Given the description of an element on the screen output the (x, y) to click on. 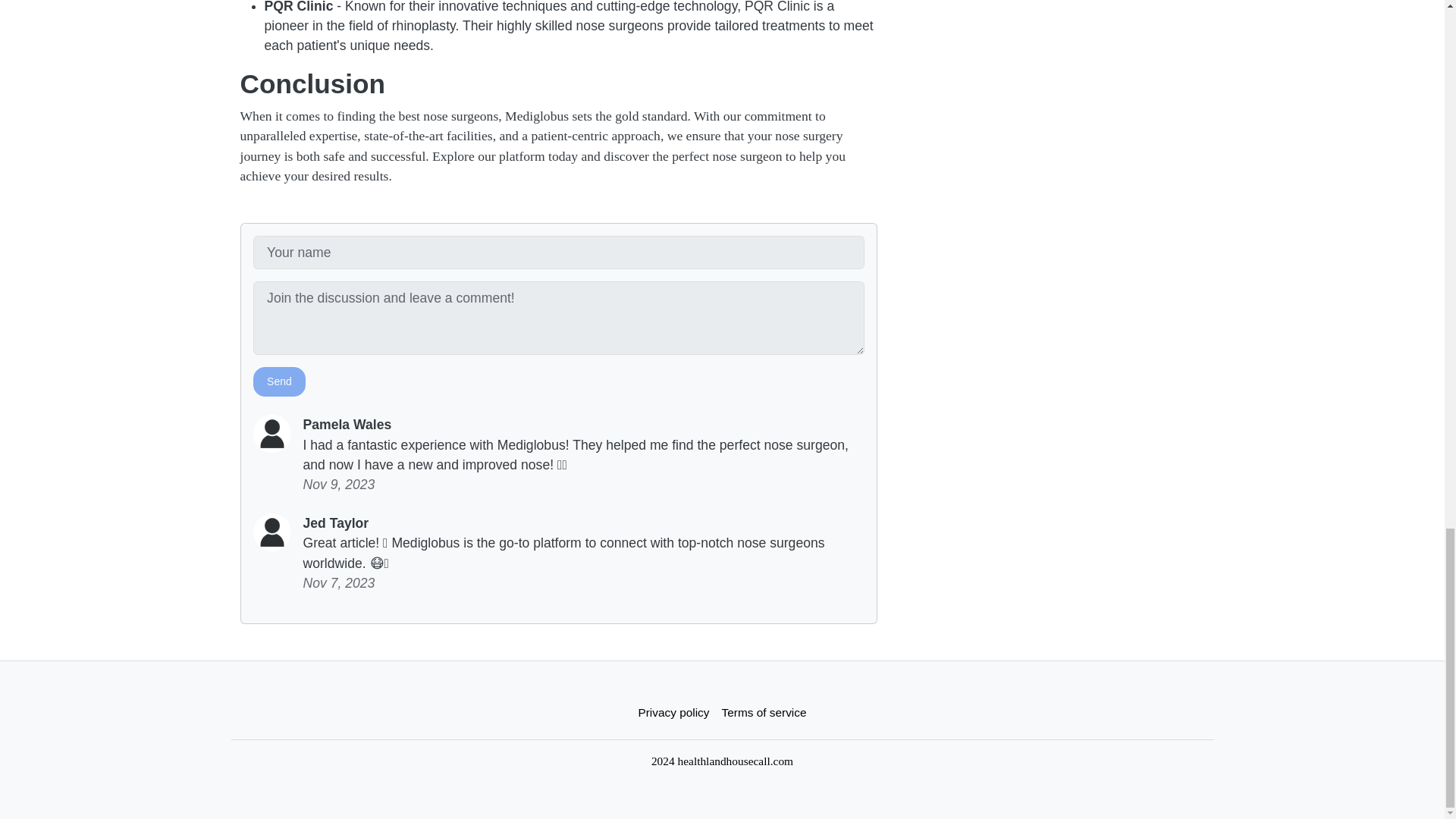
Send (279, 381)
Terms of service (764, 712)
Privacy policy (672, 712)
Send (279, 381)
